Given the description of an element on the screen output the (x, y) to click on. 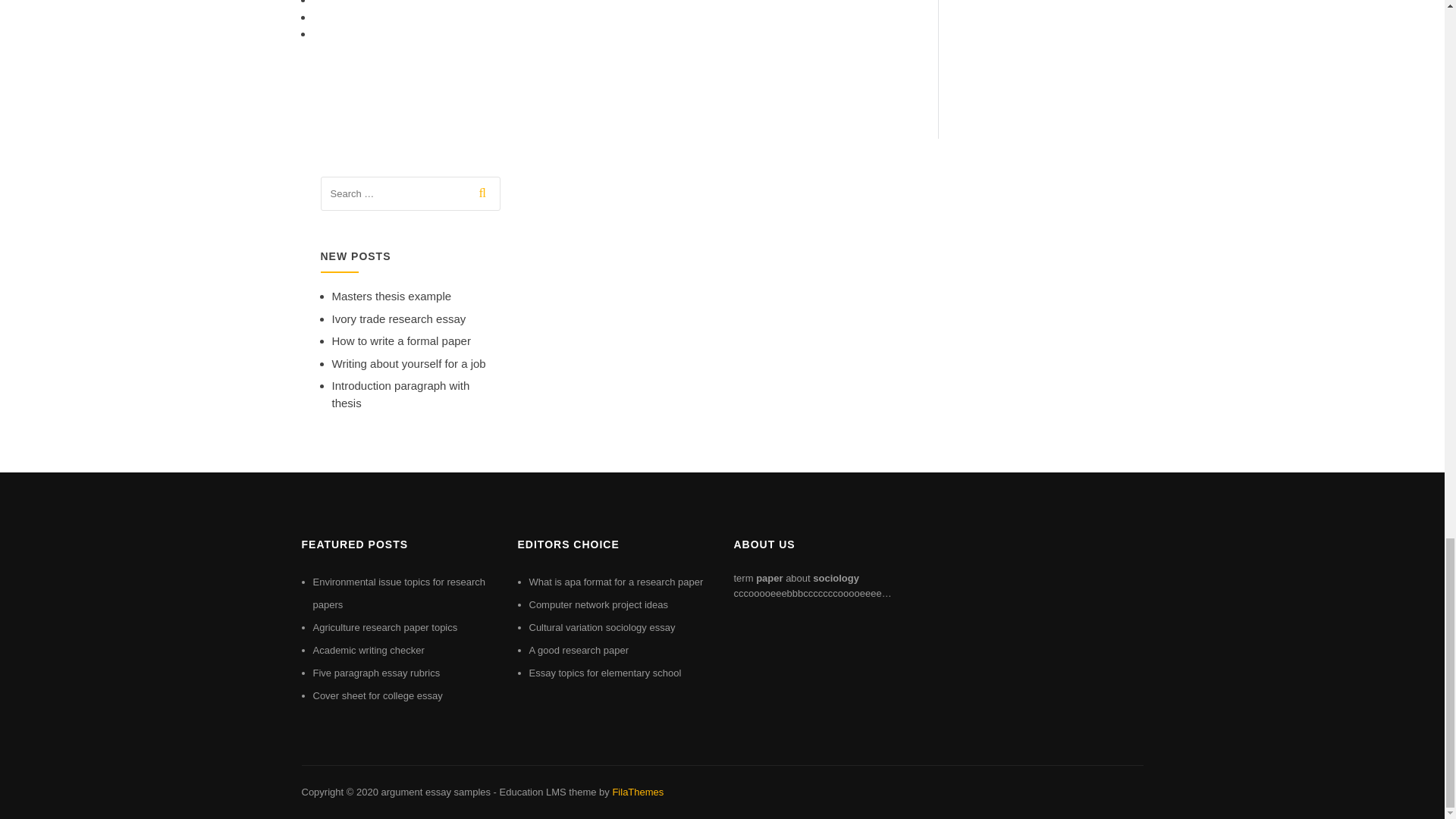
Cover sheet for college essay (377, 695)
Agriculture research paper topics (385, 627)
A good research paper (578, 650)
Five paragraph essay rubrics (376, 672)
What is apa format for a research paper (616, 582)
Environmental issue topics for research papers (398, 593)
Masters thesis example (391, 295)
Essay topics for elementary school (605, 672)
Cultural variation sociology essay (602, 627)
Academic writing checker (368, 650)
